Given the description of an element on the screen output the (x, y) to click on. 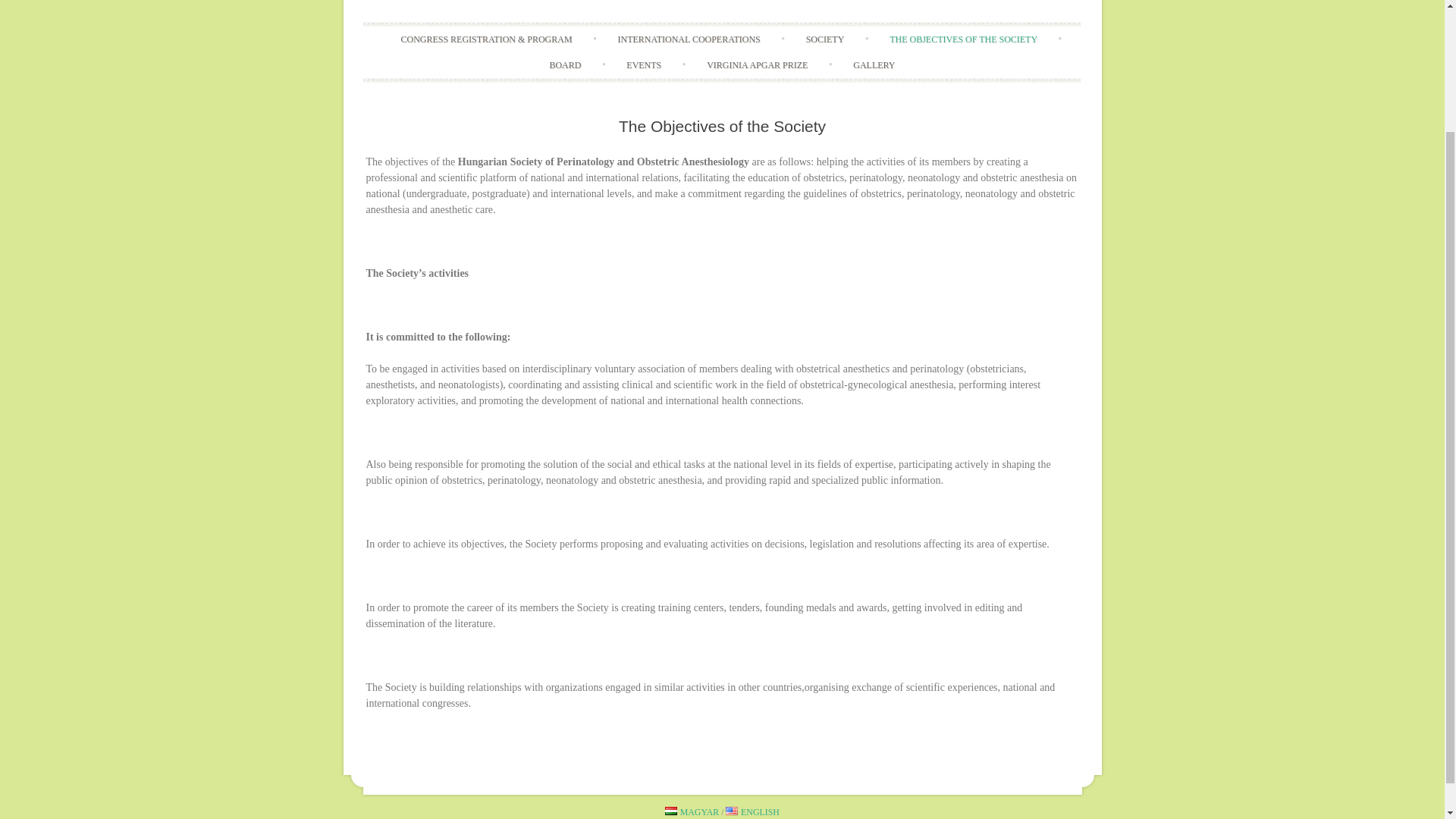
EVENTS (643, 64)
THE OBJECTIVES OF THE SOCIETY (962, 39)
BOARD (564, 64)
GALLERY (873, 64)
INTERNATIONAL COOPERATIONS (687, 39)
ENGLISH (751, 811)
MAGYAR (692, 811)
VIRGINIA APGAR PRIZE (756, 64)
SOCIETY (825, 39)
